Given the description of an element on the screen output the (x, y) to click on. 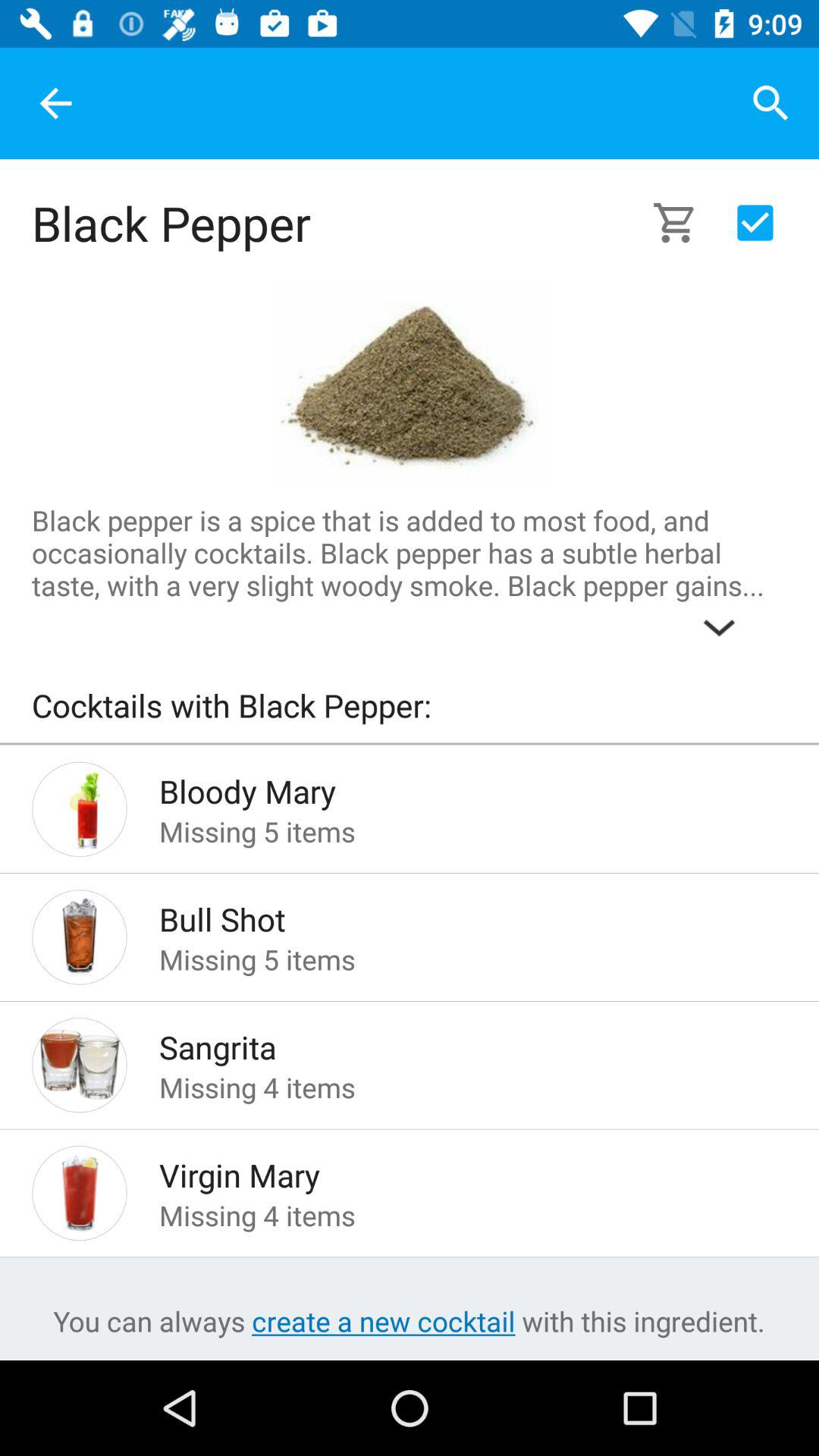
select text below the black pepper image (409, 577)
select the symbol which is beside black pepper (683, 222)
click on the second option to the right of pepper (755, 222)
image below black pepper (409, 386)
click on the bull shot image (79, 937)
select the search icon (771, 103)
